Given the description of an element on the screen output the (x, y) to click on. 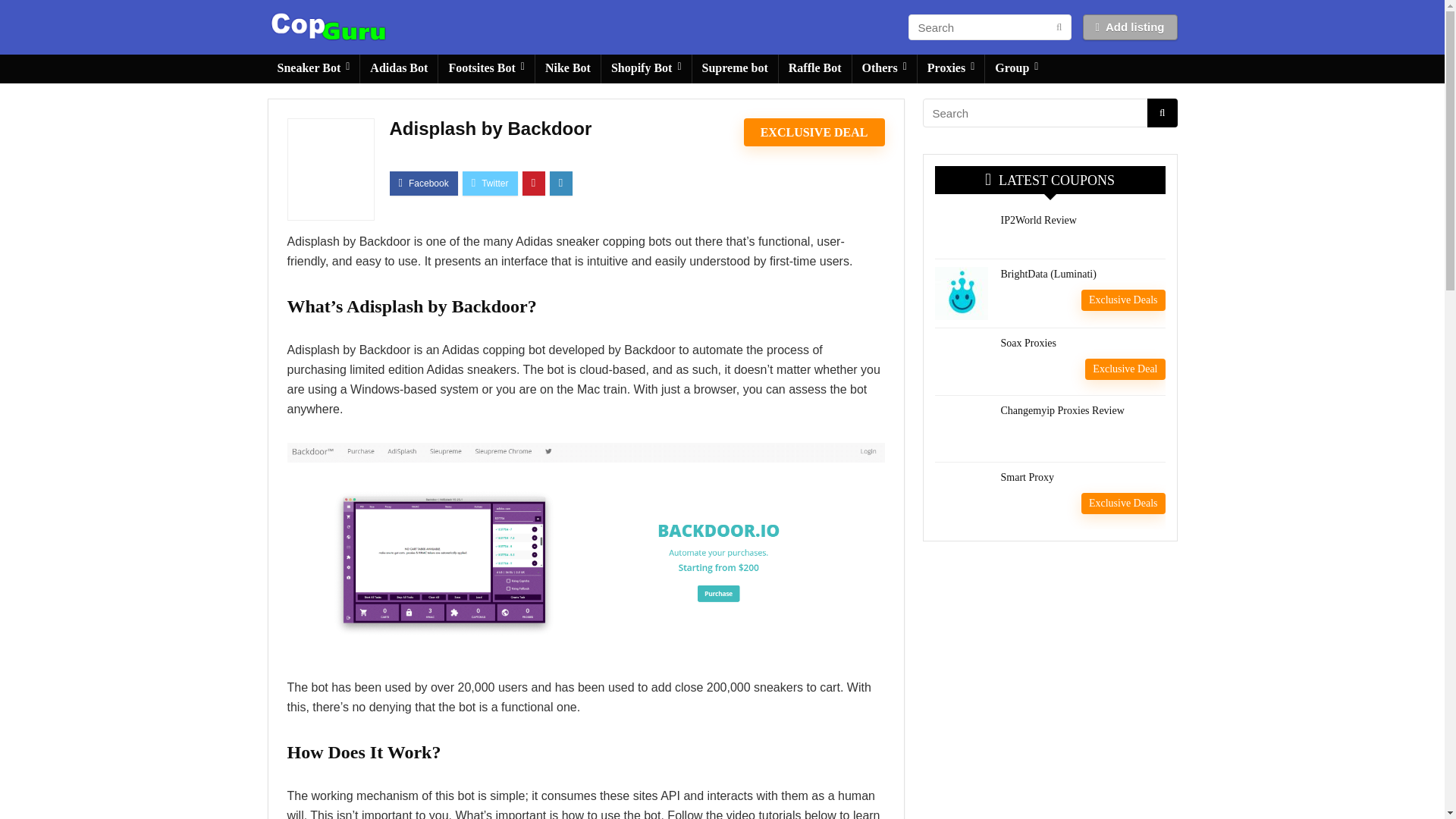
Raffle Bot (814, 68)
Sneaker Bot (312, 68)
Nike Bot (567, 68)
Footsites Bot (486, 68)
Supreme bot (735, 68)
Advertisement (1048, 674)
Proxies (950, 68)
Shopify Bot (646, 68)
Others (884, 68)
Add listing (1130, 27)
Adidas Bot (398, 68)
